Given the description of an element on the screen output the (x, y) to click on. 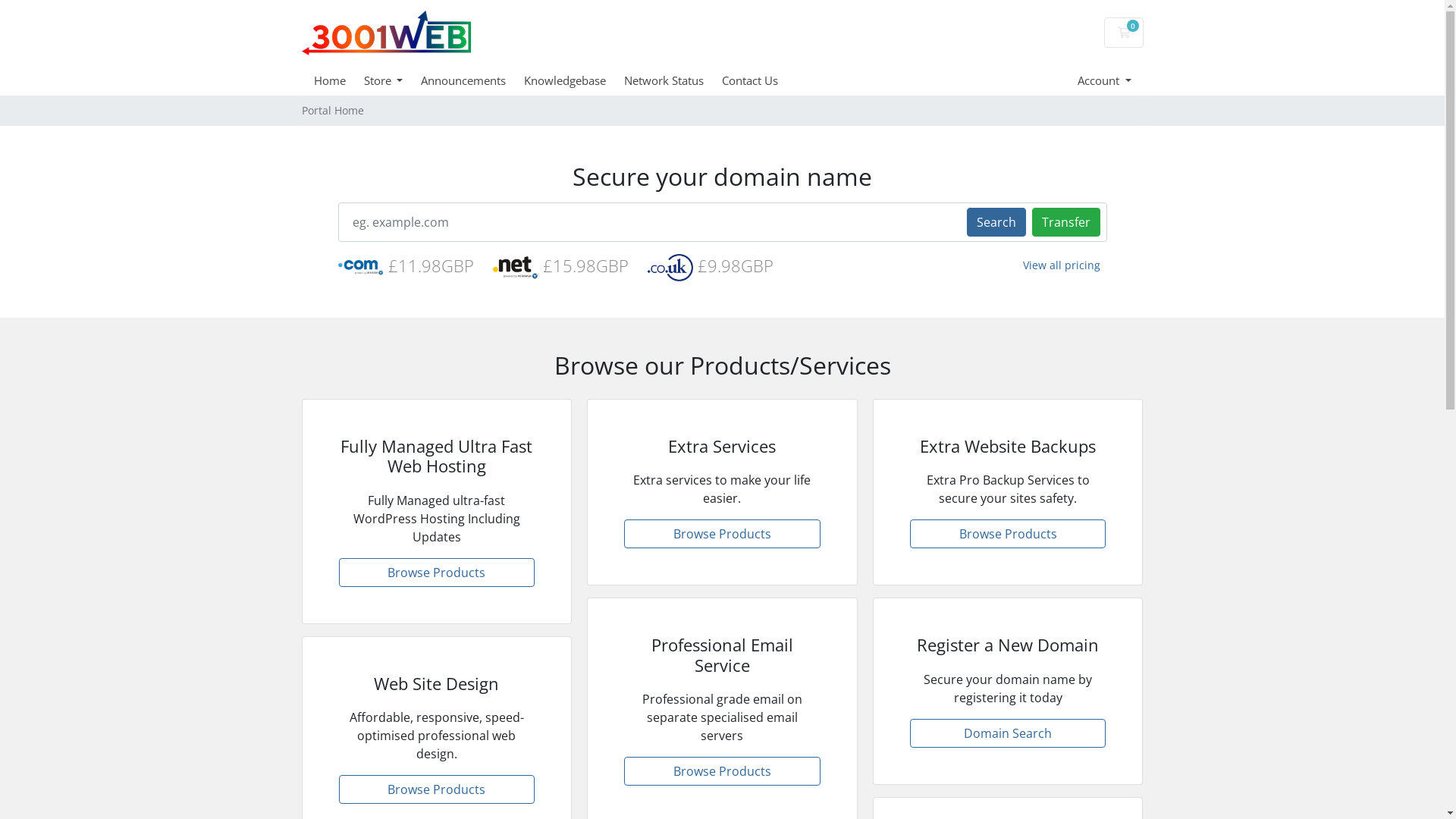
Browse Products Element type: text (722, 770)
Network Status Element type: text (672, 79)
View all pricing Element type: text (1061, 264)
0
Shopping Cart Element type: text (1123, 32)
Contact Us Element type: text (758, 79)
Browse Products Element type: text (436, 789)
Announcements Element type: text (472, 79)
Browse Products Element type: text (722, 533)
Account Element type: text (1104, 79)
Browse Products Element type: text (436, 572)
Home Element type: text (338, 79)
Store Element type: text (392, 79)
Transfer Element type: text (1065, 221)
Domain Search Element type: text (1008, 732)
Knowledgebase Element type: text (574, 79)
Search Element type: text (995, 221)
Browse Products Element type: text (1008, 533)
